Given the description of an element on the screen output the (x, y) to click on. 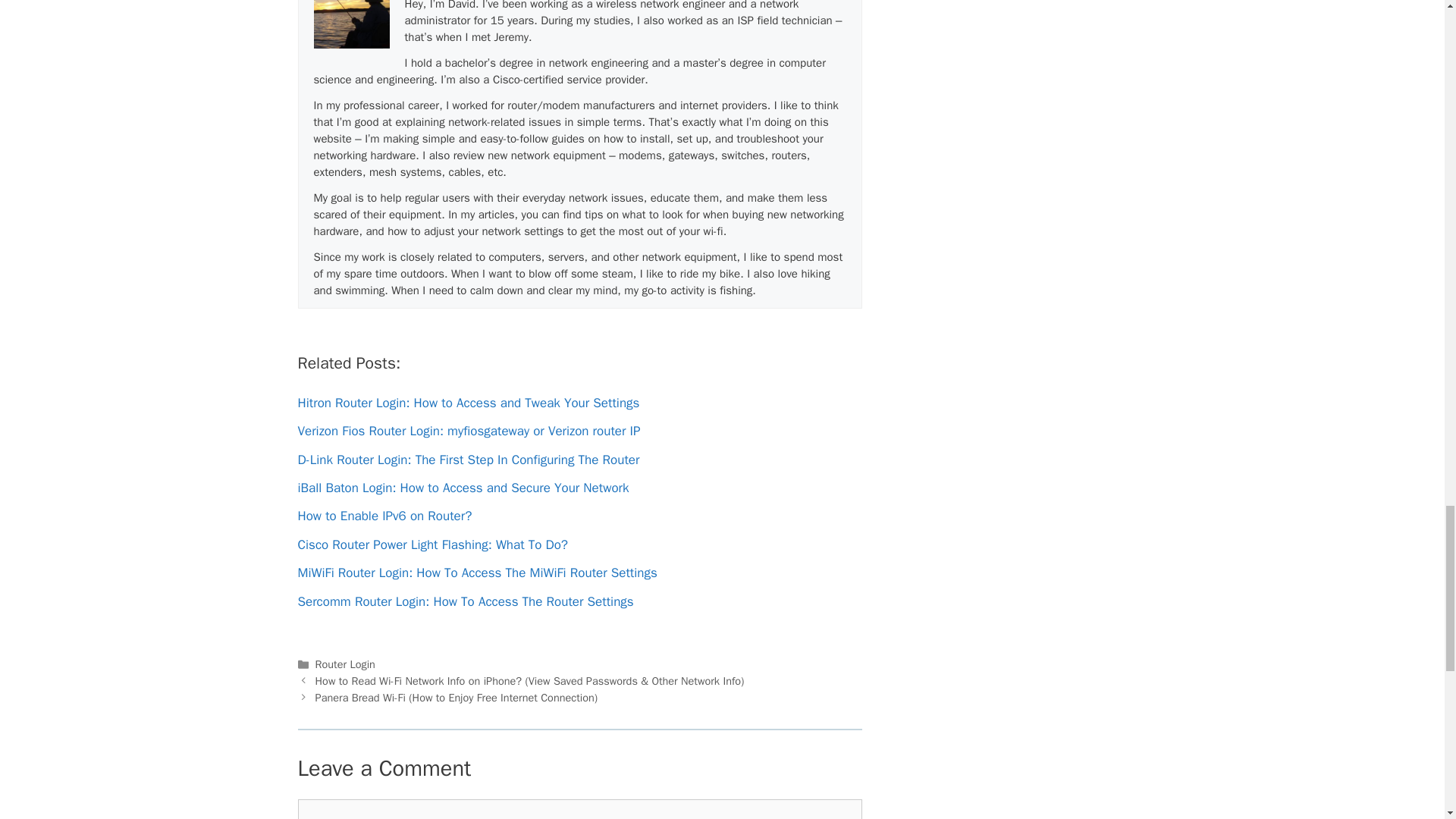
Hitron Router Login: How to Access and Tweak Your Settings (468, 402)
How to Enable IPv6 on Router? (384, 515)
Cisco Router Power Light Flashing: What To Do? (432, 544)
Sercomm Router Login: How To Access The Router Settings (465, 601)
iBall Baton Login: How to Access and Secure Your Network (462, 487)
